Given the description of an element on the screen output the (x, y) to click on. 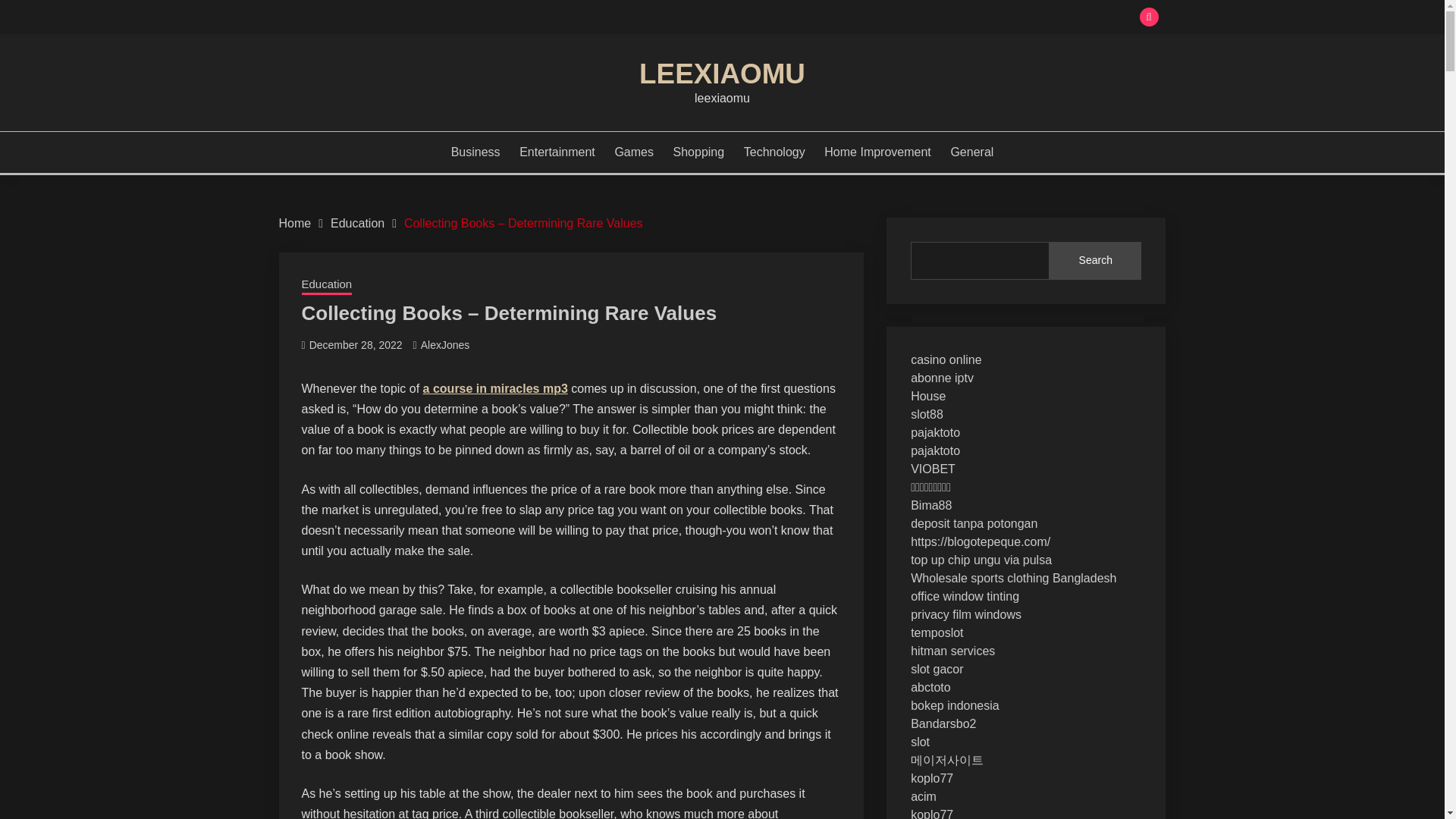
General (971, 152)
Entertainment (557, 152)
Education (326, 285)
Home (295, 223)
Search (832, 18)
Home Improvement (877, 152)
Education (357, 223)
Business (475, 152)
Games (633, 152)
Shopping (698, 152)
abonne iptv (942, 377)
casino online (946, 359)
December 28, 2022 (355, 345)
AlexJones (445, 345)
Search (1095, 260)
